Given the description of an element on the screen output the (x, y) to click on. 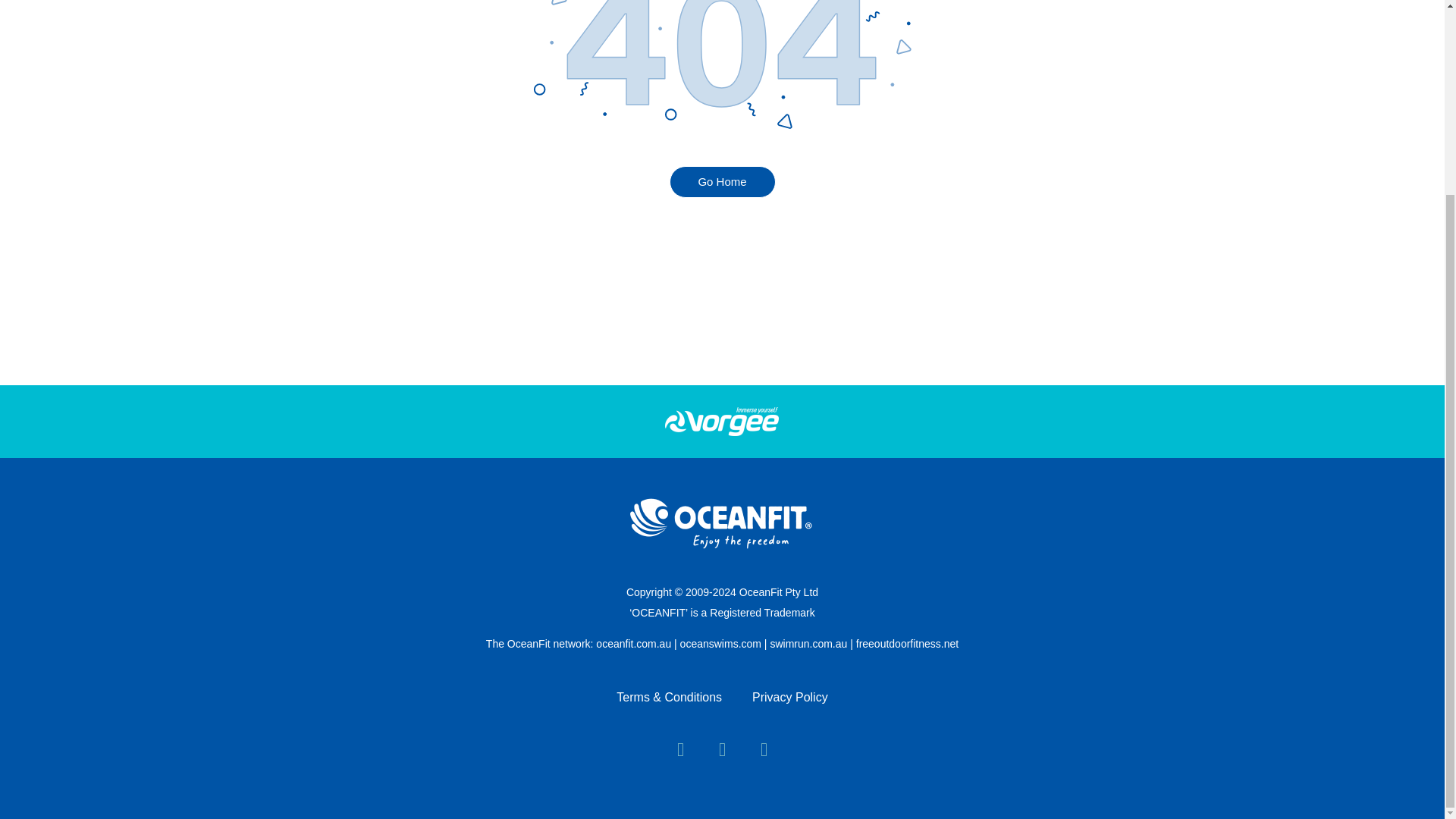
oceanfit-logo-horizontal-tag-r-white (721, 523)
vorgee-logo (721, 421)
